Given the description of an element on the screen output the (x, y) to click on. 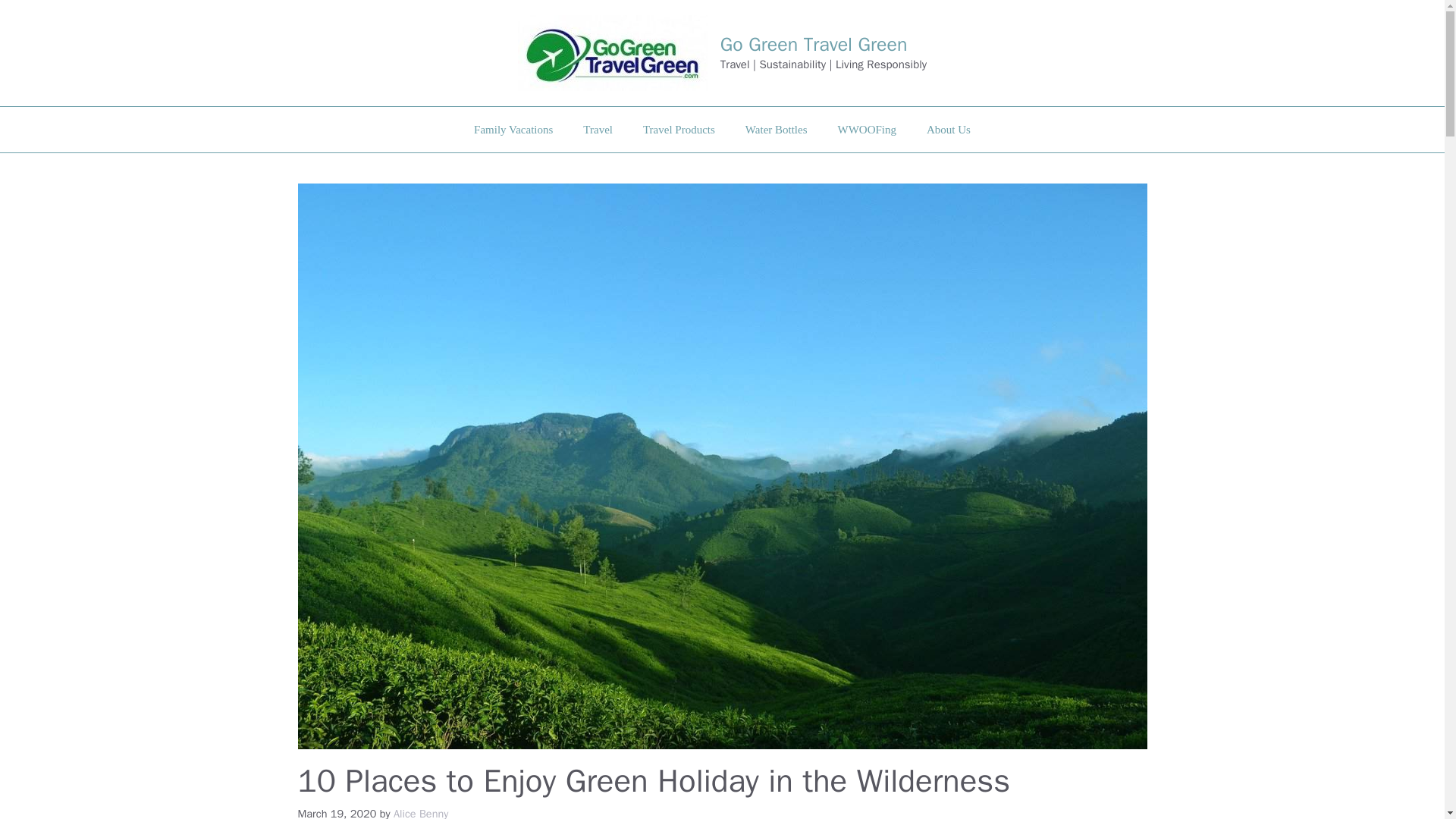
Travel (597, 129)
Go Green Travel Green (813, 44)
View all posts by Alice Benny (420, 812)
Family Vacations (512, 129)
Alice Benny (420, 812)
About Us (948, 129)
WWOOFing (867, 129)
Travel Products (678, 129)
Water Bottles (776, 129)
